Given the description of an element on the screen output the (x, y) to click on. 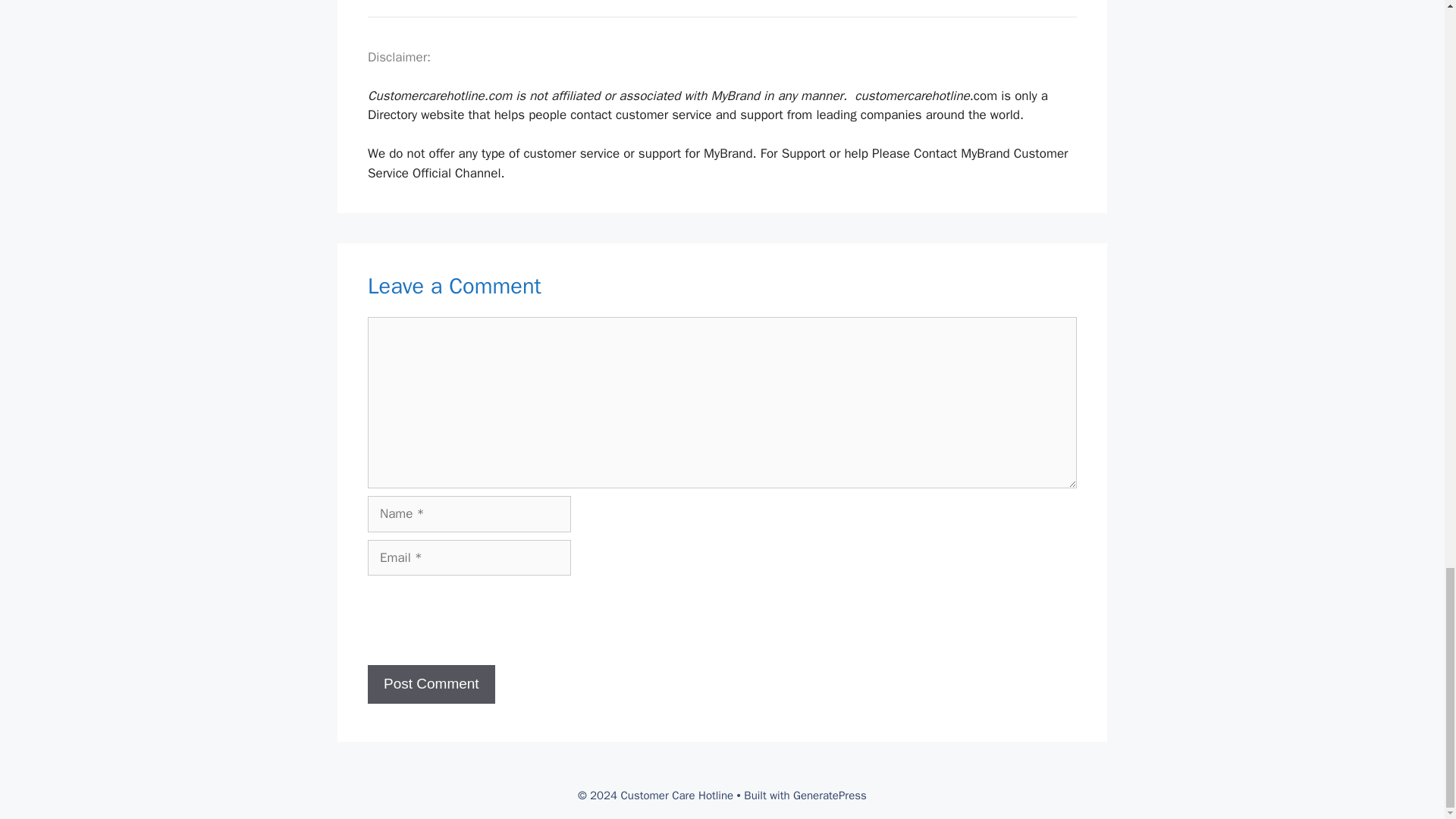
Post Comment (431, 684)
reCAPTCHA (483, 620)
Post Comment (431, 684)
GeneratePress (829, 795)
